Given the description of an element on the screen output the (x, y) to click on. 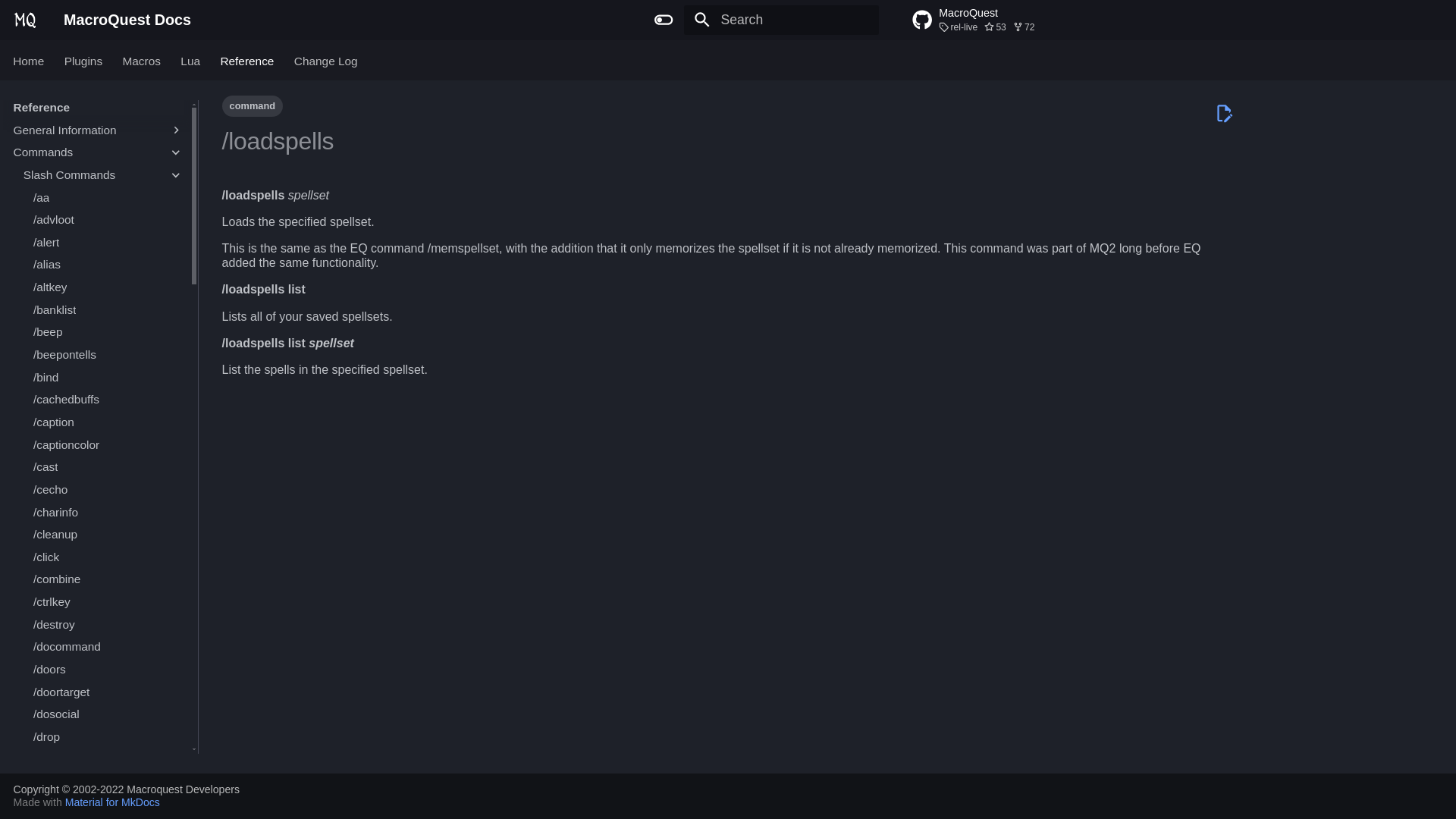
Plugins (82, 60)
Macros (141, 60)
Lua (190, 60)
Reference (248, 60)
Edit this page (1223, 112)
Switch to light mode (664, 19)
Home (999, 20)
Go to repository (29, 60)
Change Log (999, 20)
